Given the description of an element on the screen output the (x, y) to click on. 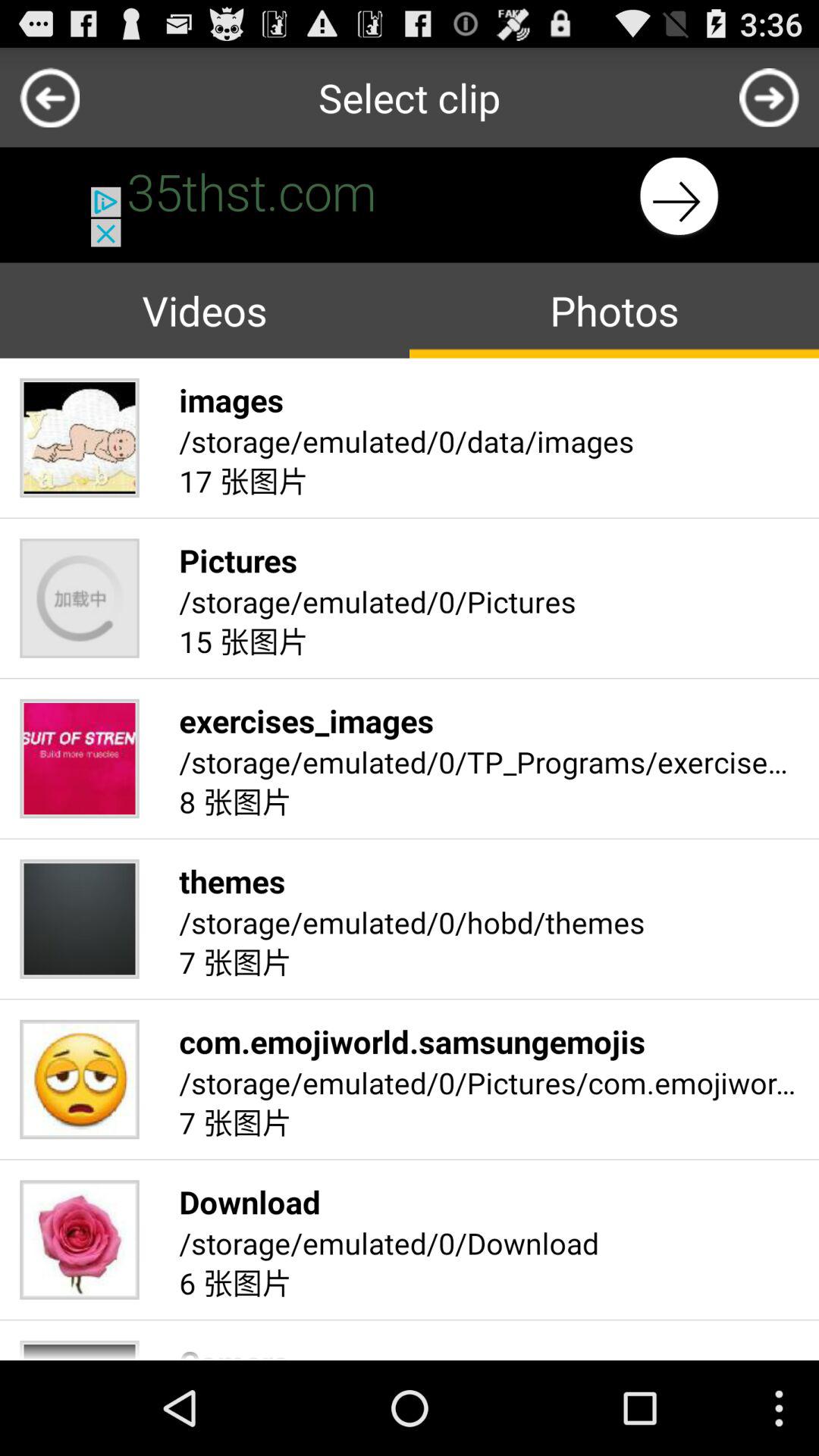
click next button (769, 97)
